Given the description of an element on the screen output the (x, y) to click on. 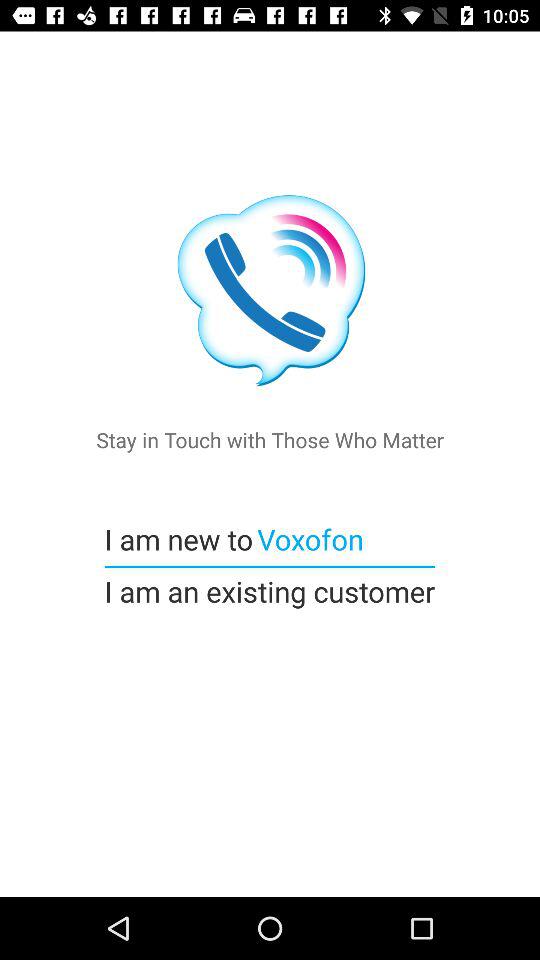
press item below stay in touch icon (308, 538)
